Given the description of an element on the screen output the (x, y) to click on. 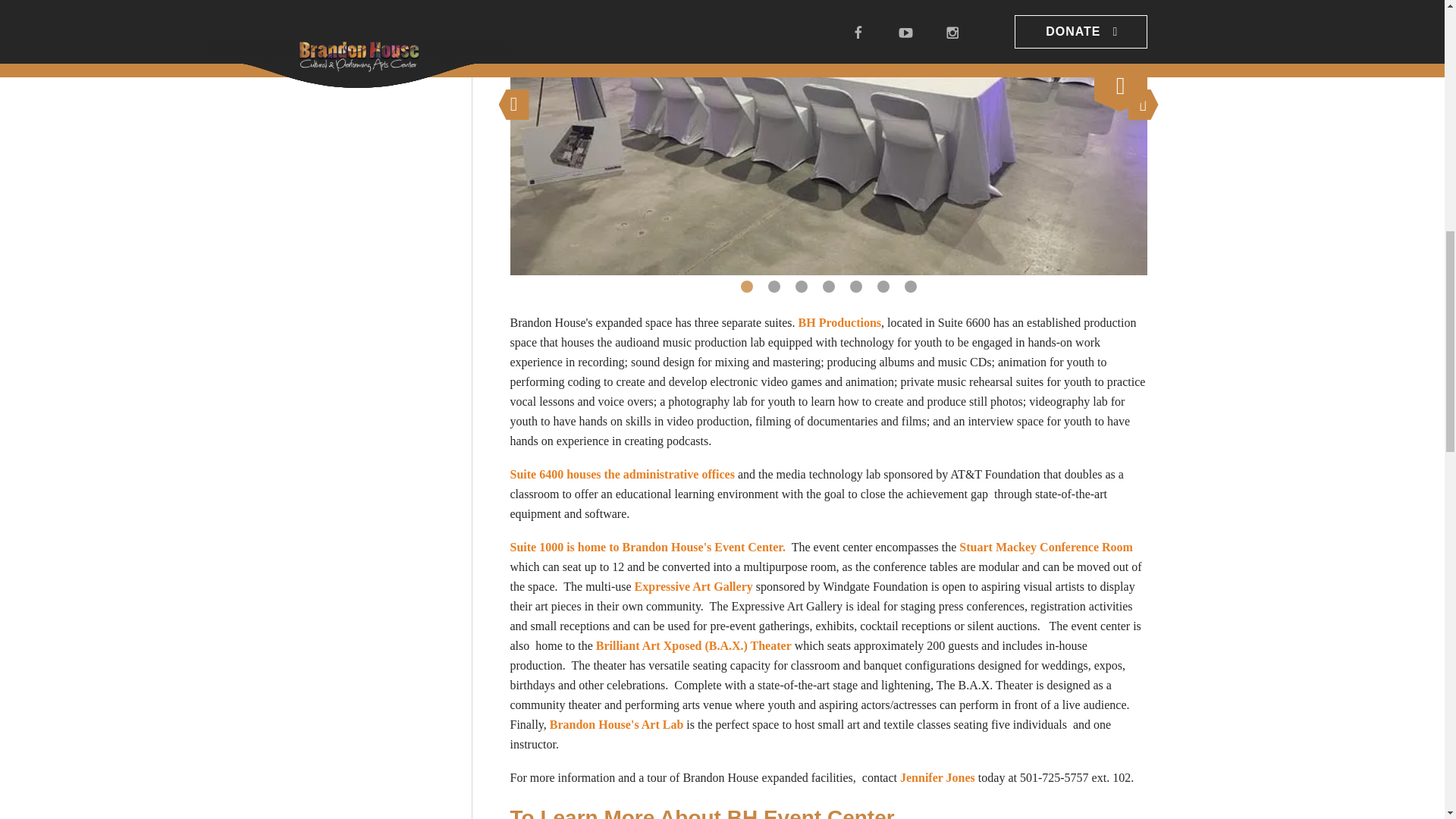
Go to Next Slide (1143, 104)
To Learn More About BH Event Center (828, 810)
Go to Previous Slide (514, 104)
